Given the description of an element on the screen output the (x, y) to click on. 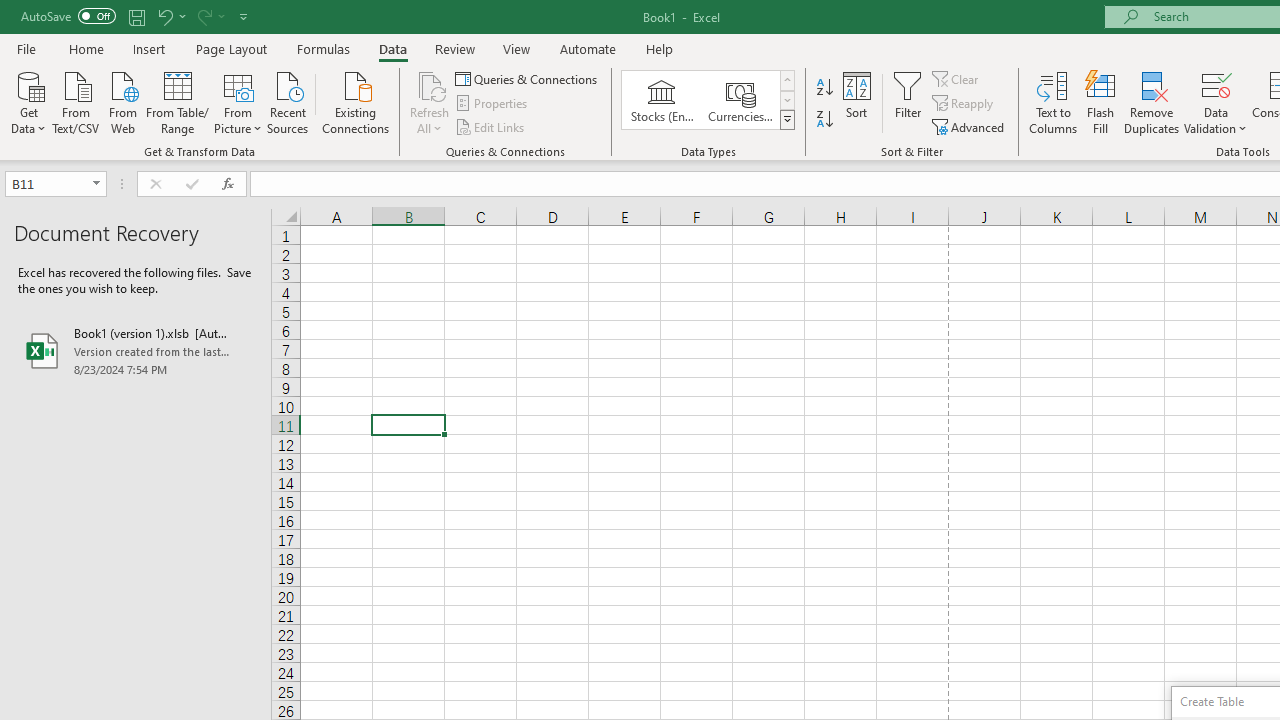
Get Data (28, 101)
Review (454, 48)
Insert (149, 48)
Row Down (786, 100)
Name Box (56, 183)
Row up (786, 79)
Redo (203, 15)
Remove Duplicates (1151, 102)
Properties (492, 103)
Existing Connections (355, 101)
Clear (957, 78)
Save (136, 15)
Currencies (English) (740, 100)
Undo (170, 15)
Redo (209, 15)
